Given the description of an element on the screen output the (x, y) to click on. 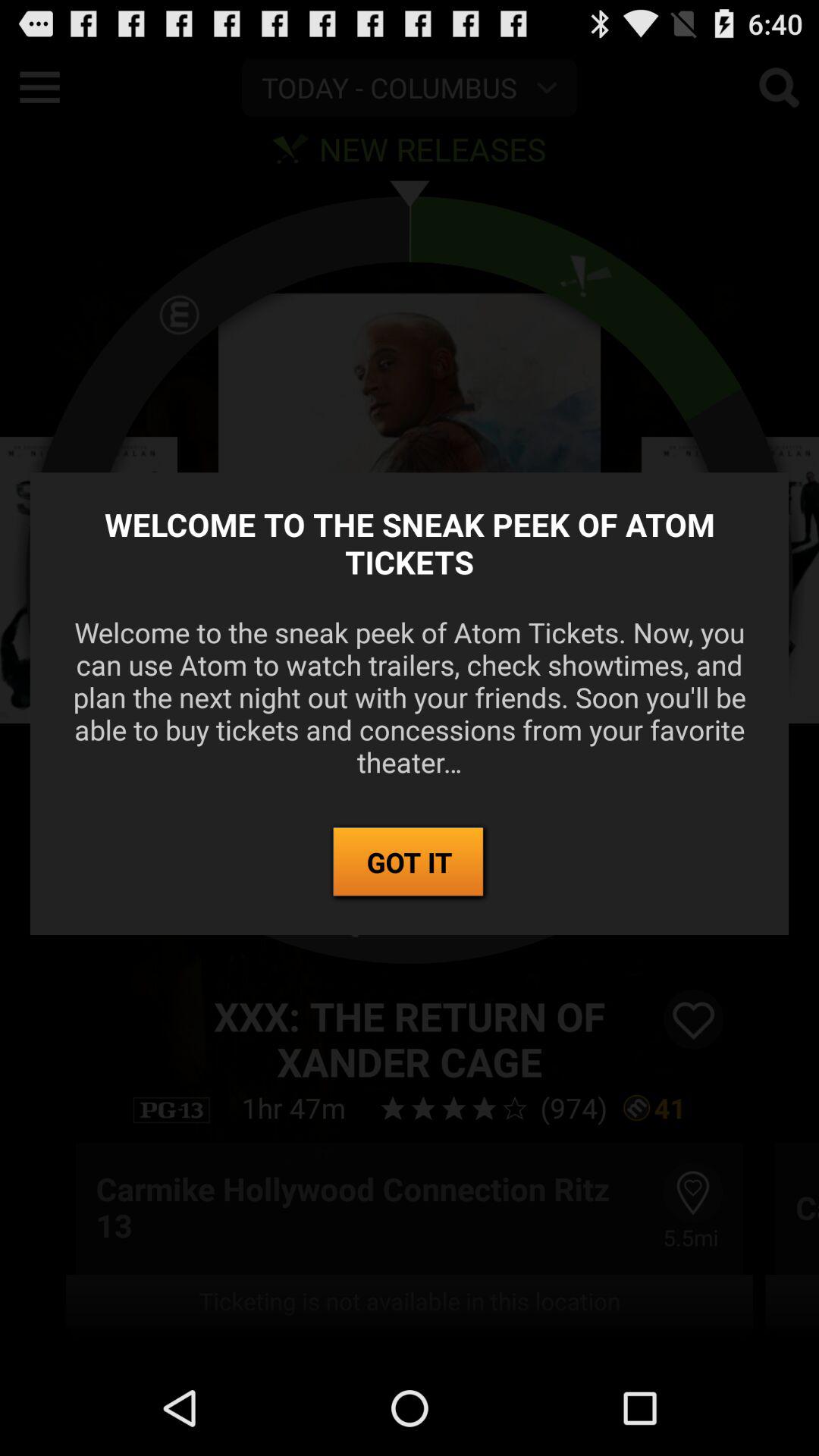
tap the got it item (409, 862)
